Given the description of an element on the screen output the (x, y) to click on. 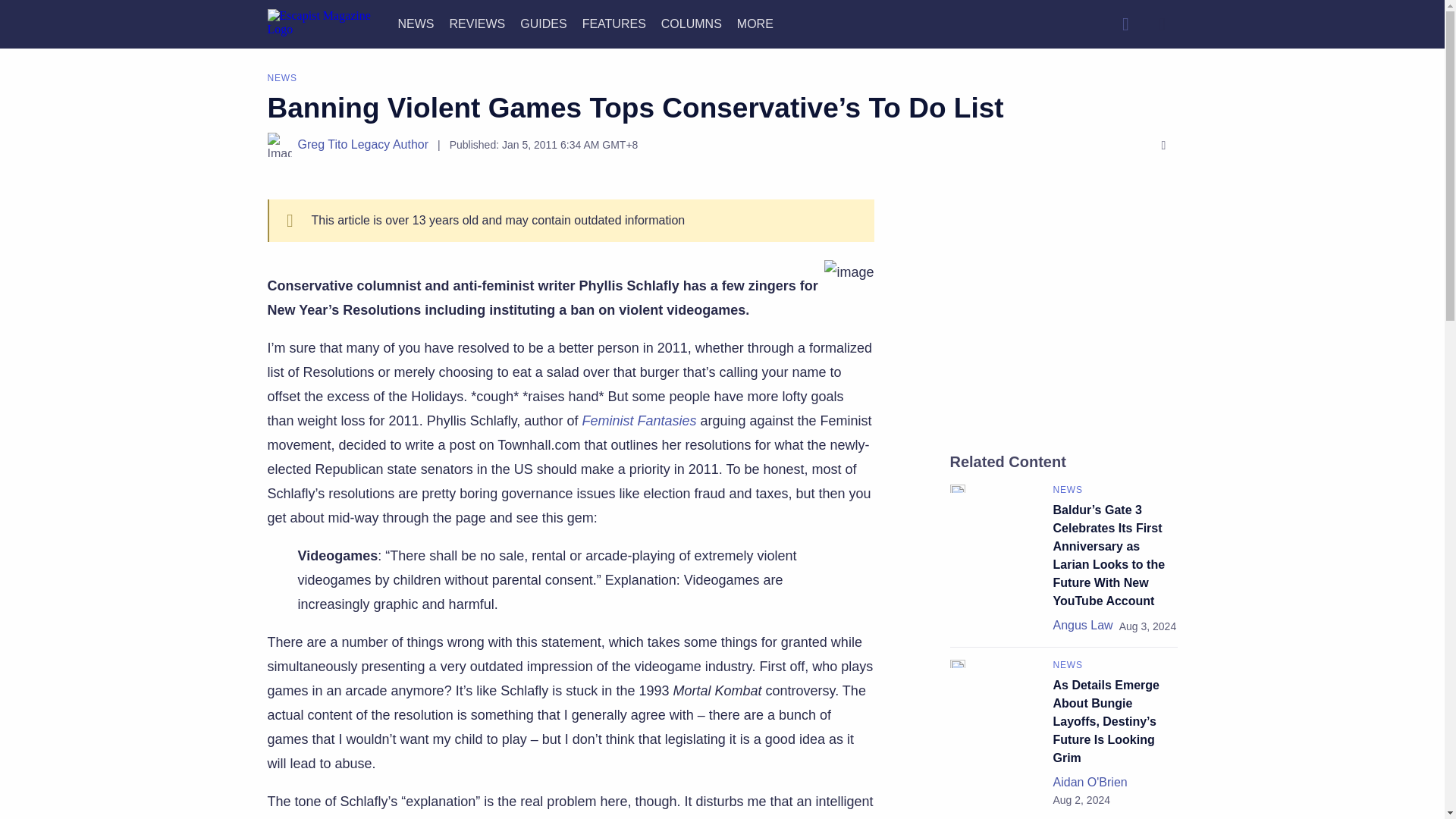
NEWS (415, 23)
FEATURES (614, 23)
GUIDES (542, 23)
REVIEWS (476, 23)
COLUMNS (691, 23)
Search (1124, 24)
Dark Mode (1161, 24)
